Given the description of an element on the screen output the (x, y) to click on. 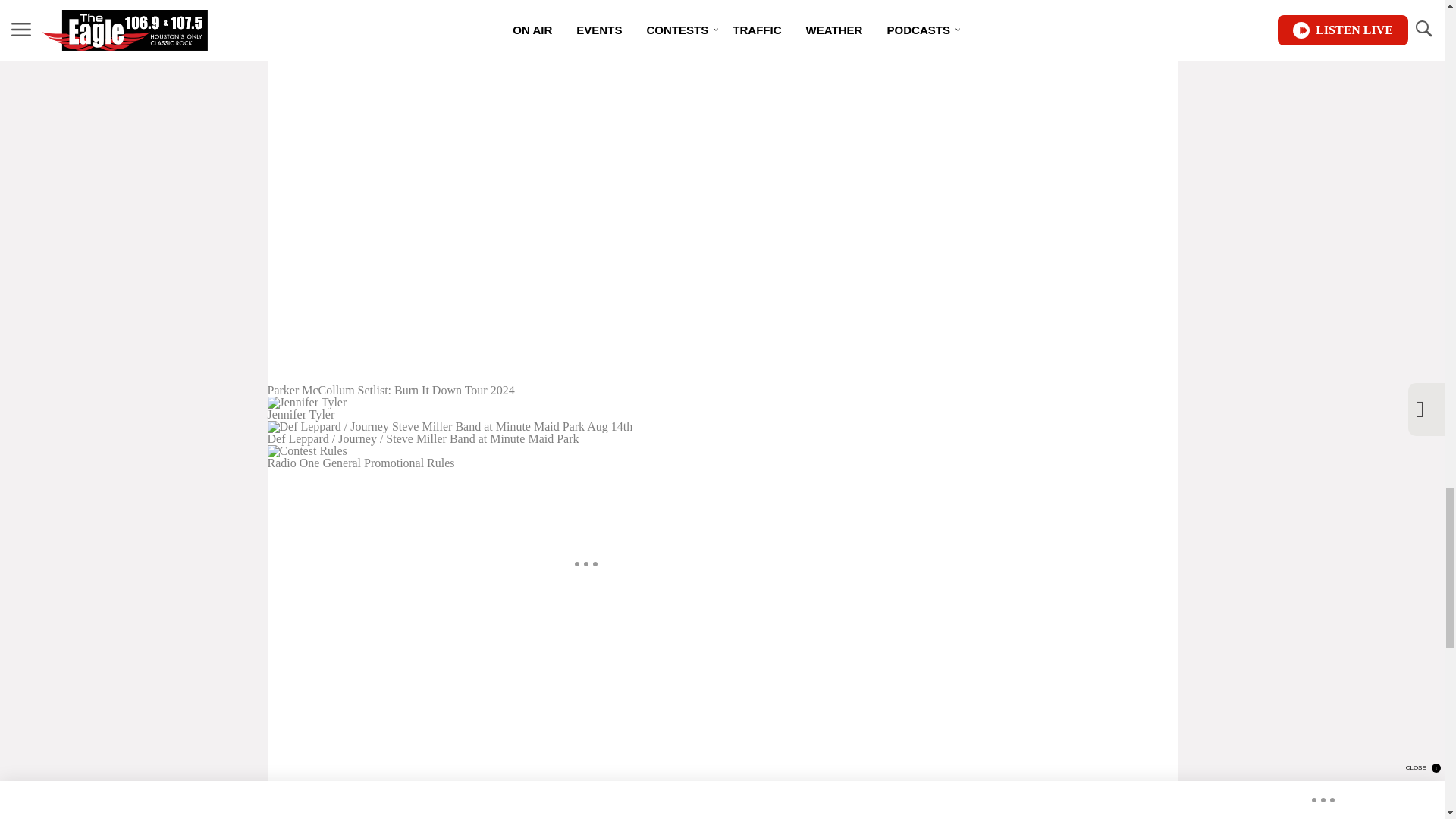
Radio One General Promotional Rules (585, 457)
Jennifer Tyler (585, 408)
